Given the description of an element on the screen output the (x, y) to click on. 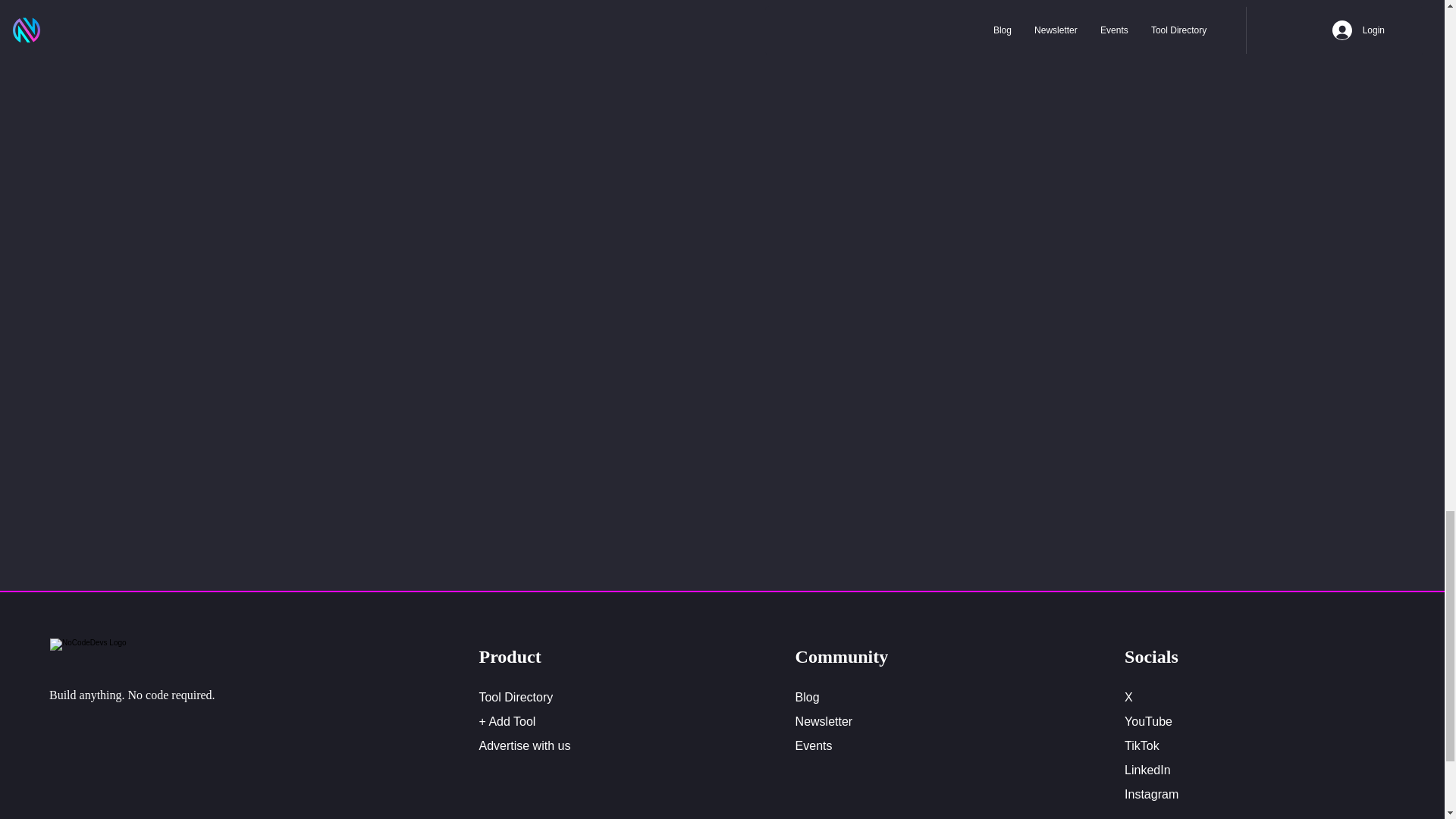
TikTok (1141, 745)
LinkedIn (1147, 769)
Instagram (1150, 793)
X (1128, 697)
Blog (806, 697)
Newsletter (823, 721)
Events (813, 745)
YouTube (1148, 721)
Tool Directory (516, 697)
Advertise with us (524, 745)
